Given the description of an element on the screen output the (x, y) to click on. 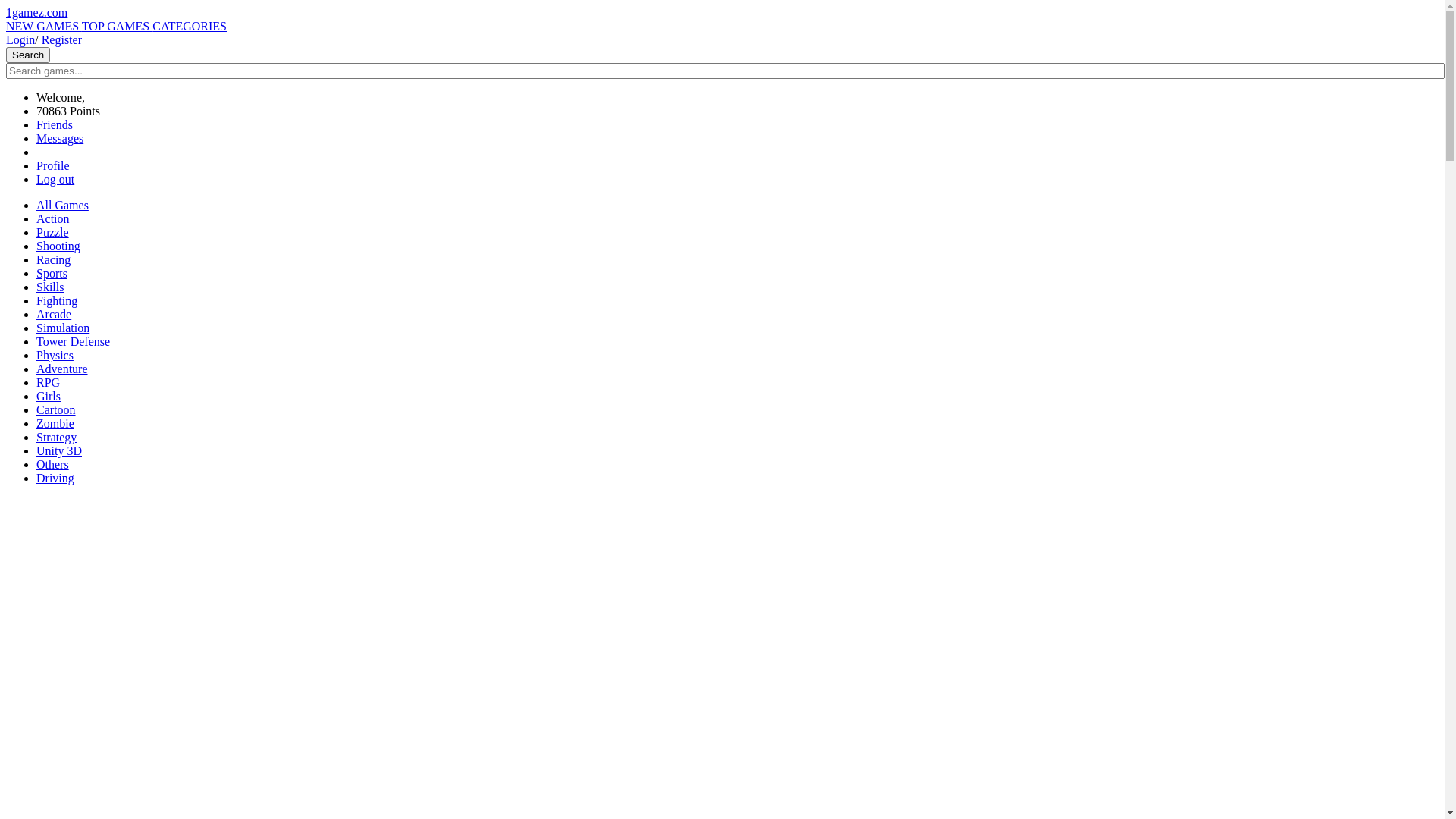
Shooting Element type: text (58, 245)
Puzzle Element type: text (52, 231)
1gamez.com Element type: text (36, 12)
Login Element type: text (20, 39)
Login/ Register Element type: text (43, 39)
Tower Defense Element type: text (72, 341)
Skills Element type: text (49, 286)
Girls Element type: text (48, 395)
Arcade Element type: text (53, 313)
Action Element type: text (52, 218)
Strategy Element type: text (56, 436)
Profile Element type: text (52, 165)
Log out Element type: text (55, 178)
Search Element type: text (28, 54)
Simulation Element type: text (62, 327)
Racing Element type: text (53, 259)
All Games Element type: text (62, 204)
Sports Element type: text (51, 272)
Friends Element type: text (54, 124)
CATEGORIES Element type: text (189, 25)
Register Element type: text (61, 39)
Others Element type: text (52, 464)
Adventure Element type: text (61, 368)
Driving Element type: text (55, 477)
Zombie Element type: text (55, 423)
NEW GAMES Element type: text (43, 25)
Advertisement Element type: hover (721, 603)
Messages Element type: text (59, 137)
TOP GAMES Element type: text (116, 25)
Fighting Element type: text (56, 300)
Unity 3D Element type: text (58, 450)
RPG Element type: text (47, 382)
Physics Element type: text (54, 354)
Cartoon Element type: text (55, 409)
